Given the description of an element on the screen output the (x, y) to click on. 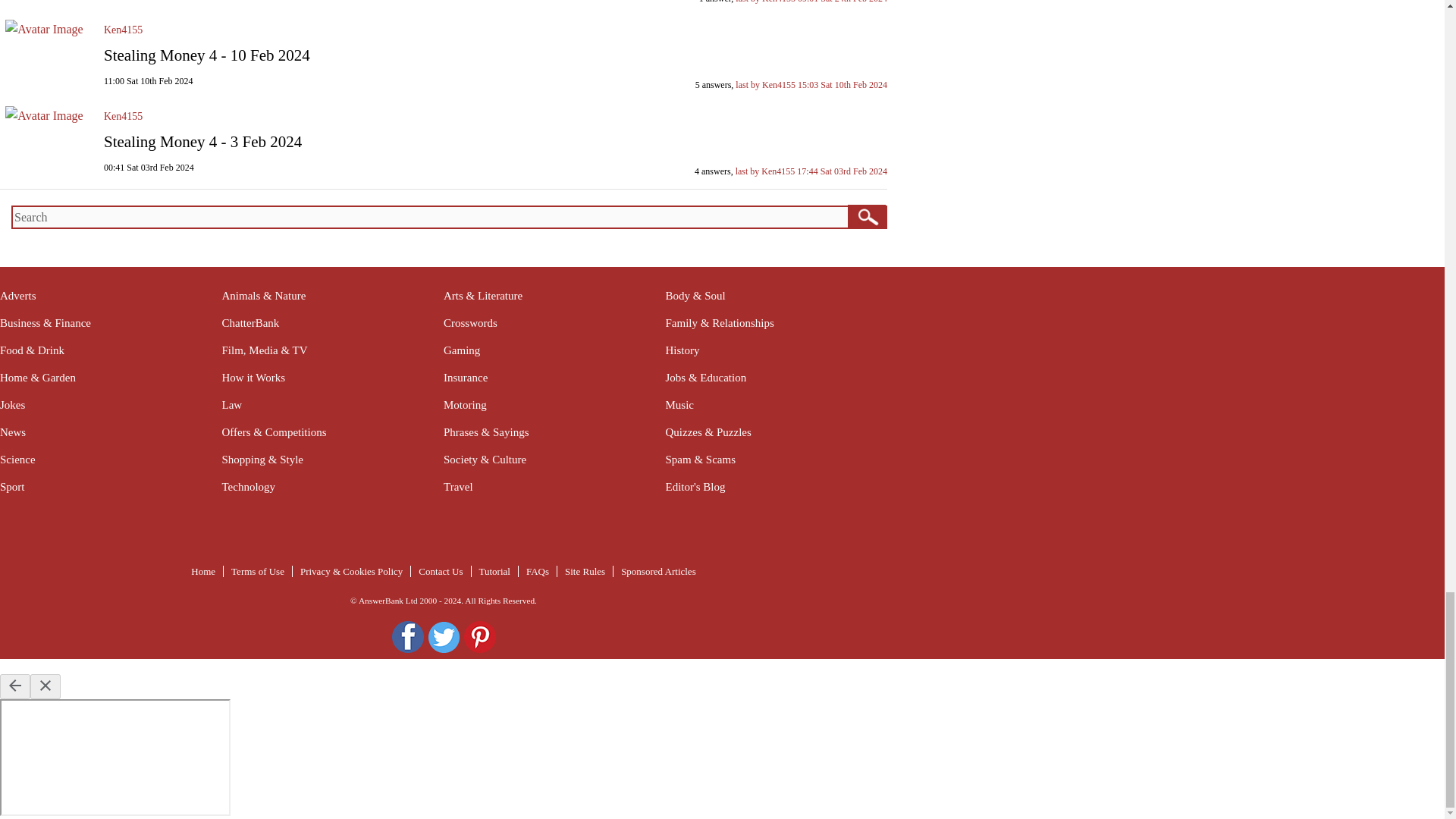
GO (866, 215)
GO (866, 215)
